Given the description of an element on the screen output the (x, y) to click on. 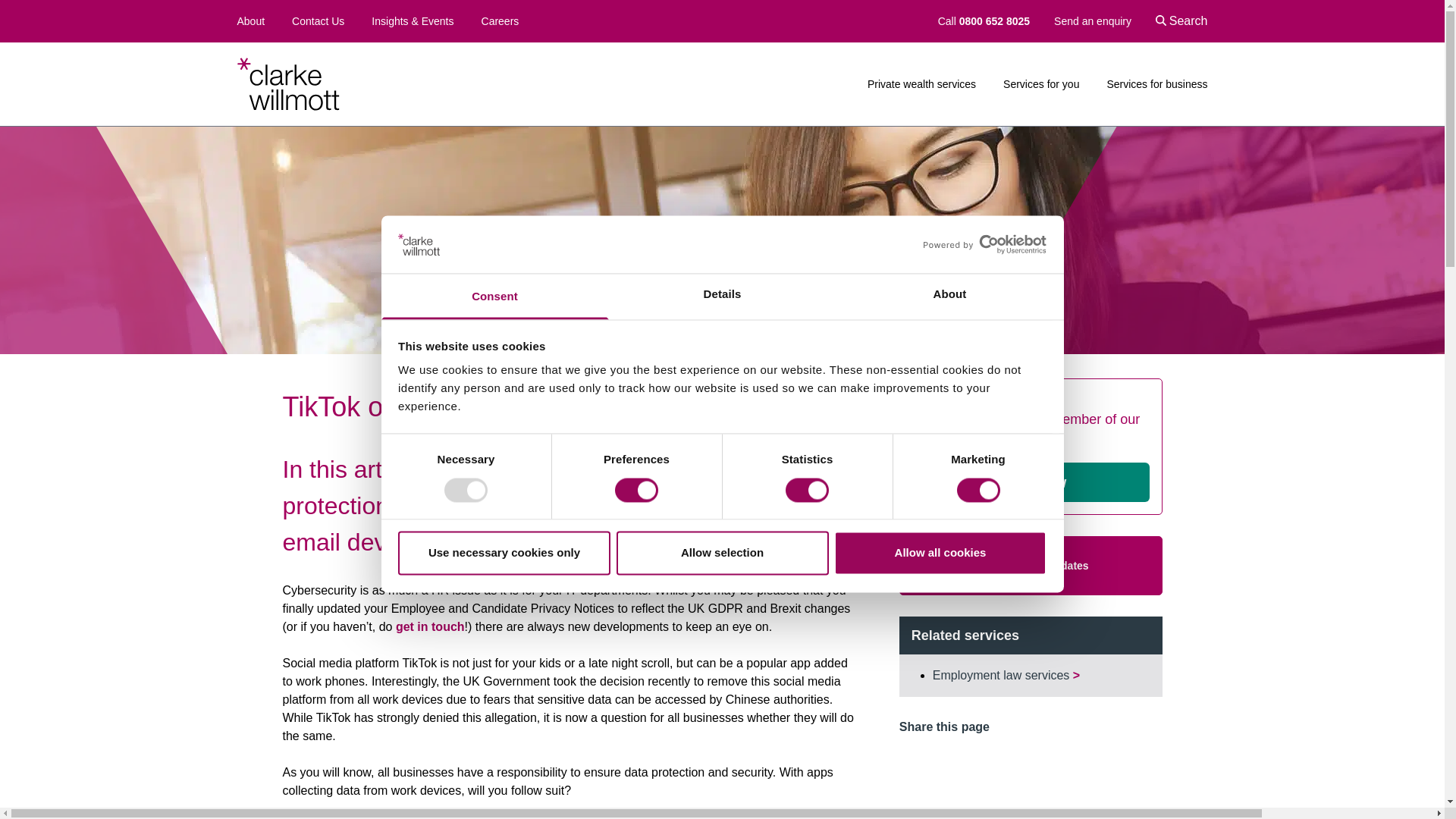
Consent (494, 297)
Details (721, 297)
Use necessary cookies only (503, 553)
Allow all cookies (940, 553)
Allow selection (721, 553)
About (948, 297)
